Given the description of an element on the screen output the (x, y) to click on. 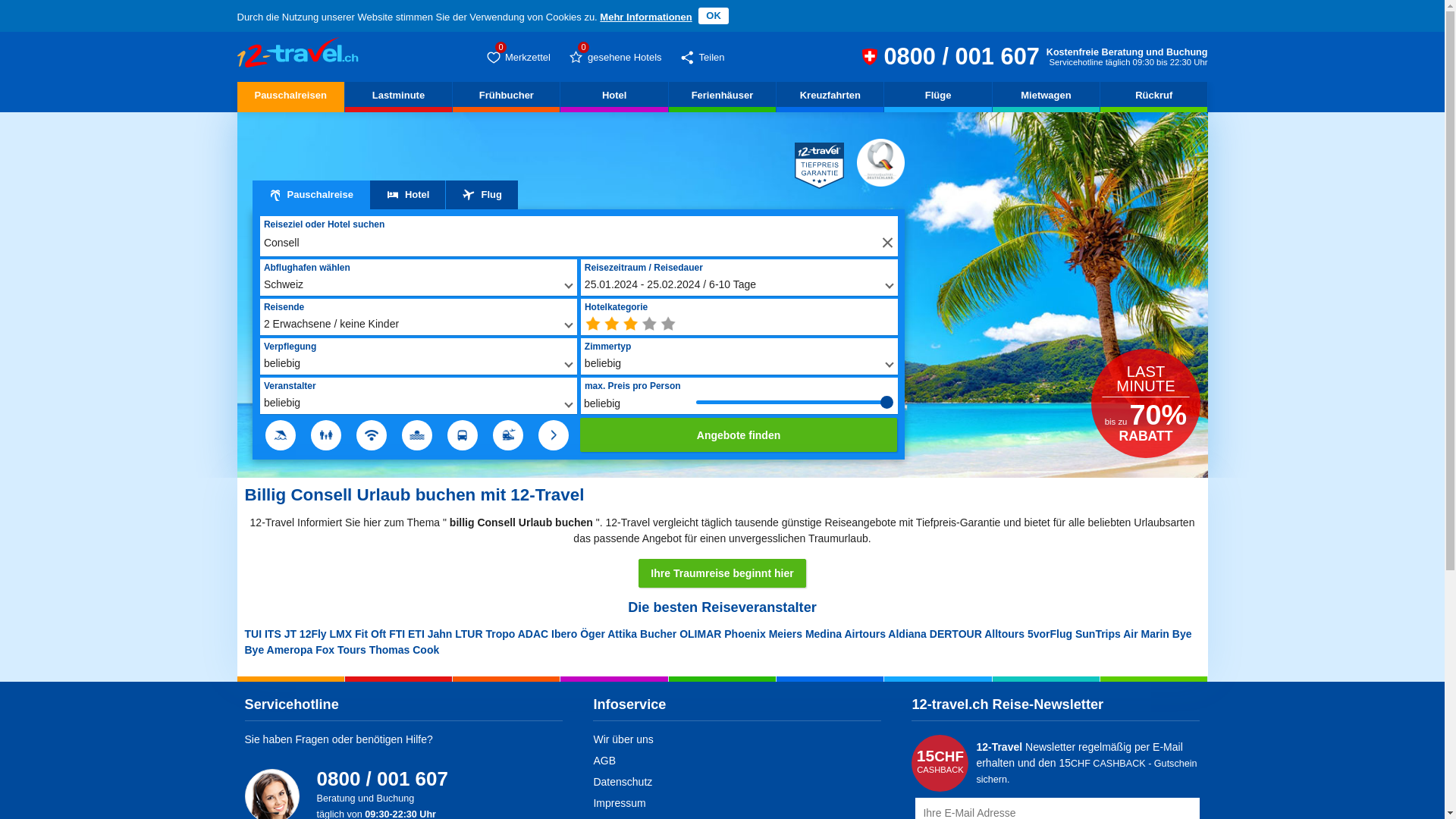
LMX Element type: text (340, 633)
ETI Element type: text (415, 633)
Aldiana Element type: text (907, 633)
Thomas Cook Element type: text (404, 649)
12-travel.ch Reiseberatung und Buchung 0800 / 001 607 (CH) Element type: hover (870, 56)
ITS Element type: text (272, 633)
JT Element type: text (290, 633)
Bye Bye Element type: text (717, 641)
OLIMAR Element type: text (700, 633)
Meiers Element type: text (785, 633)
ADAC Element type: text (532, 633)
Jahn Element type: text (439, 633)
Hotel Element type: text (613, 96)
Angebote finden Element type: text (738, 434)
DERTOUR Element type: text (955, 633)
Kreuzfahrten Element type: text (829, 96)
Fox Tours Element type: text (340, 649)
Bucher Element type: text (658, 633)
Mehr Informationen Element type: text (645, 15)
min. 4 Sterne Element type: hover (651, 326)
Billig Consell Urlaub buchen geht nur hier Element type: hover (296, 52)
LTUR Element type: text (468, 633)
min. 5 Sterne Element type: hover (670, 326)
Hotel Element type: text (407, 194)
Pauschalreisen Element type: text (289, 96)
Attika Element type: text (622, 633)
min. 2 Sterne Element type: hover (614, 326)
Billig Consell Urlaub buchen geht nur hier Element type: hover (296, 52)
Ihre Traumreise beginnt hier Element type: text (721, 572)
TUI Element type: text (252, 633)
Alltours Element type: text (1004, 633)
Oft Element type: text (377, 633)
Phoenix Element type: text (744, 633)
Datenschutz Element type: text (622, 781)
Flug Element type: text (481, 194)
Ameropa Element type: text (289, 649)
Medina Element type: text (823, 633)
FTI Element type: text (396, 633)
Ibero Element type: text (564, 633)
5vorFlug Element type: text (1049, 633)
beliebig Element type: hover (595, 326)
Fit Element type: text (360, 633)
Tropo Element type: text (499, 633)
Airtours Element type: text (864, 633)
AGB Element type: text (604, 760)
Lastminute Element type: text (398, 96)
Impressum Element type: text (619, 802)
Mietwagen Element type: text (1045, 96)
min. 3 Sterne Element type: hover (632, 326)
SunTrips Element type: text (1097, 633)
Air Marin Element type: text (1146, 633)
Pauschalreise Element type: text (309, 194)
12Fly Element type: text (312, 633)
